Given the description of an element on the screen output the (x, y) to click on. 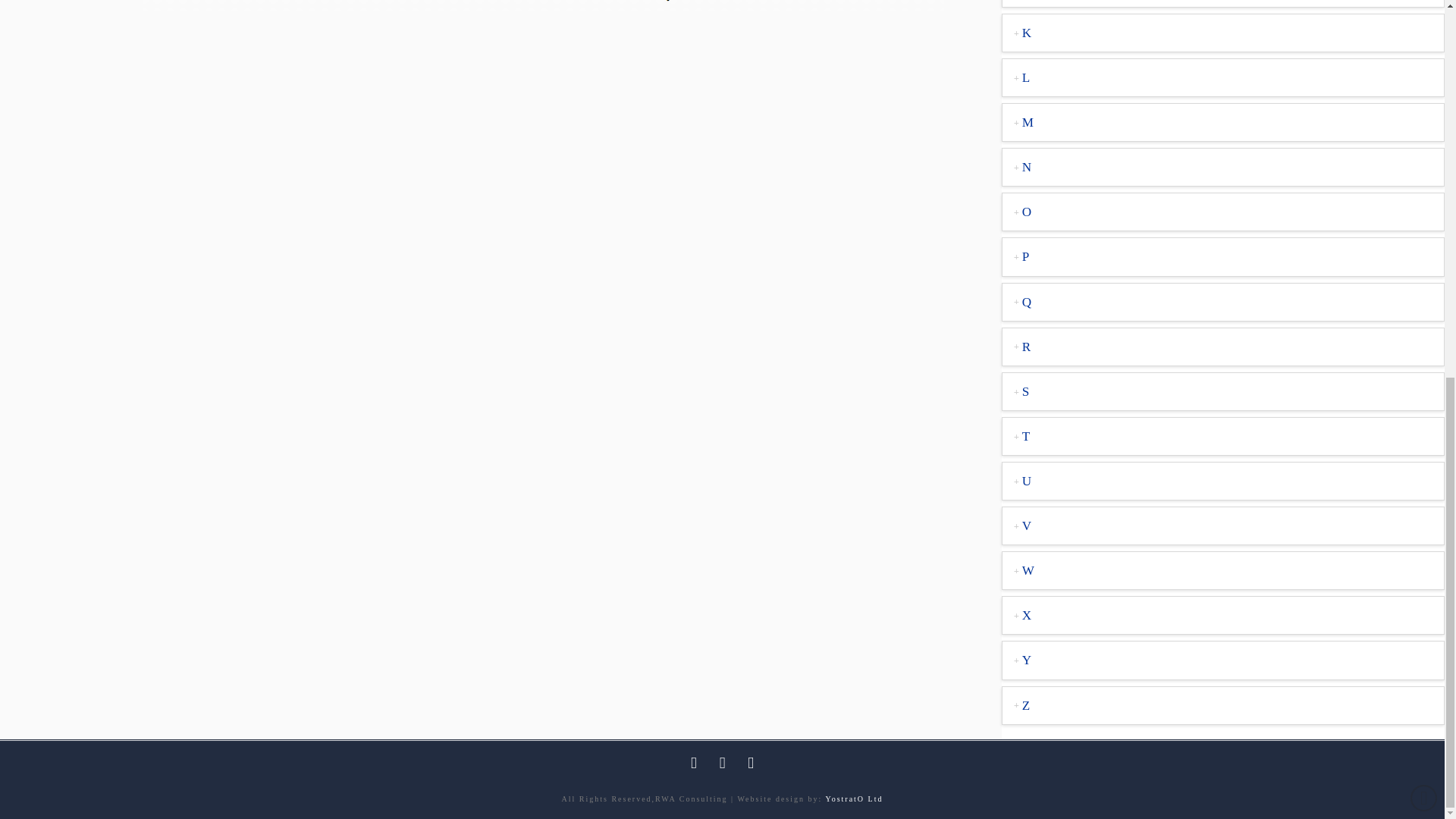
Back to Top (1423, 99)
